Given the description of an element on the screen output the (x, y) to click on. 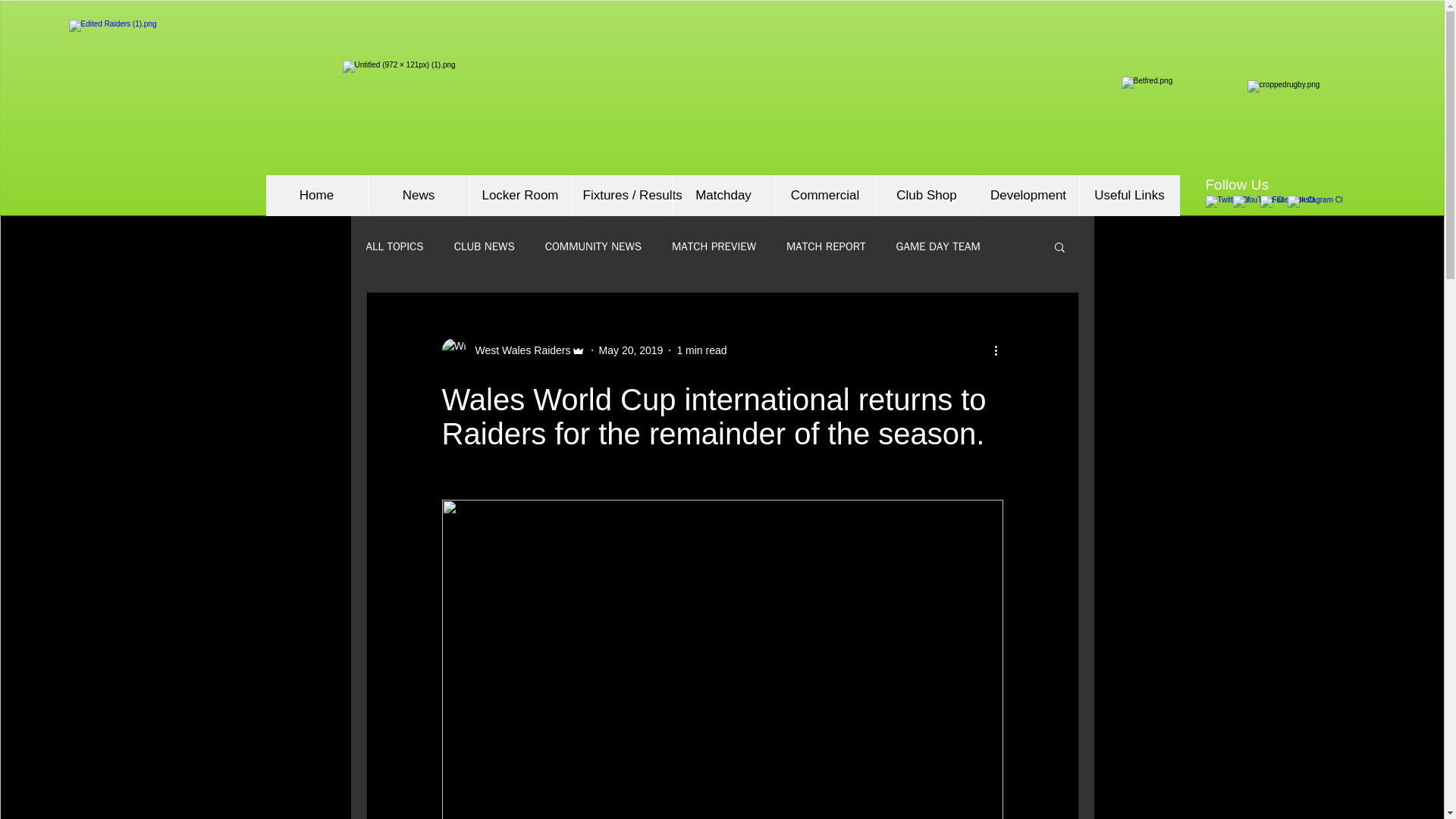
ALL TOPICS (394, 246)
MATCH REPORT (826, 246)
Commercial (824, 195)
News (417, 195)
Matchday (722, 195)
MATCH PREVIEW (713, 246)
West Wales Raiders (517, 350)
Development (1027, 195)
Useful Links (1128, 195)
Club Shop (925, 195)
CLUB NEWS (484, 246)
1 min read (701, 349)
May 20, 2019 (630, 349)
Locker Room (519, 195)
COMMUNITY NEWS (593, 246)
